Given the description of an element on the screen output the (x, y) to click on. 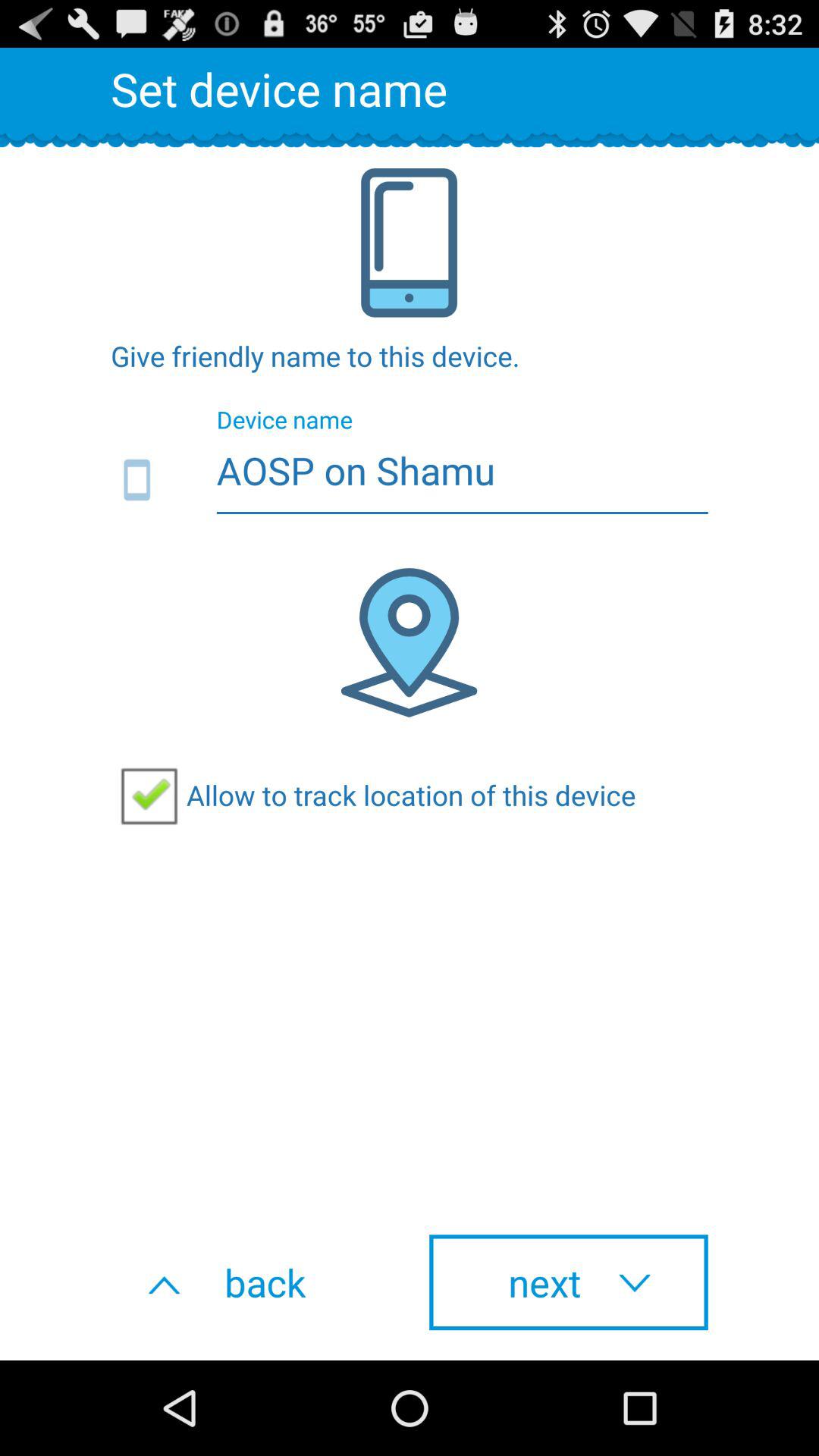
click aosp on shamu icon (409, 480)
